Given the description of an element on the screen output the (x, y) to click on. 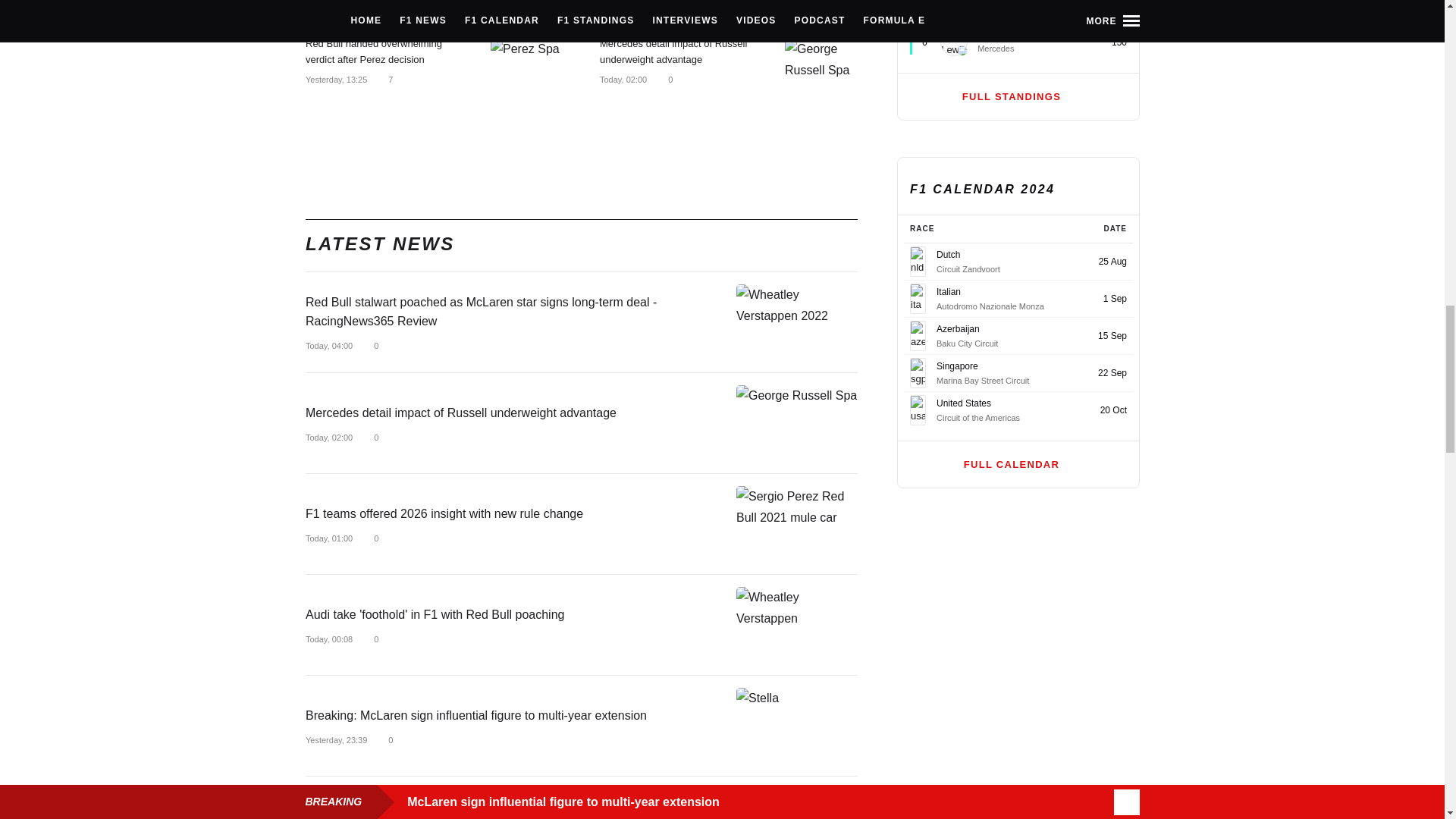
Friday 2 August 2024 at 04:00 (328, 345)
Thursday 1 August 2024 at 23:39 (335, 8)
Friday 2 August 2024 at 02:00 (622, 78)
Thursday 1 August 2024 at 13:25 (335, 78)
Thursday 1 August 2024 at 20:03 (629, 8)
